Given the description of an element on the screen output the (x, y) to click on. 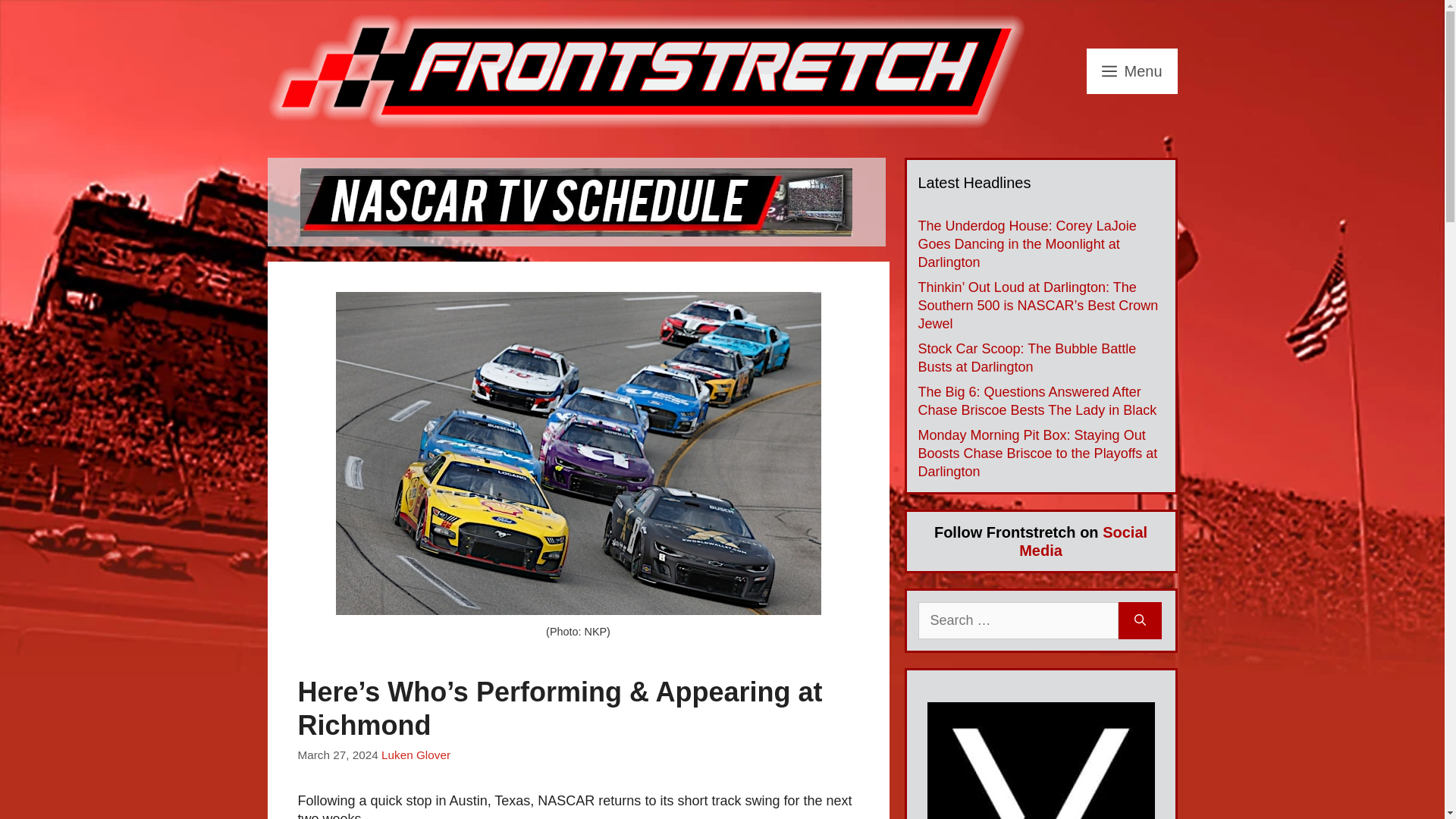
Stock Car Scoop: The Bubble Battle Busts at Darlington (1026, 357)
Search for: (1017, 620)
Social Media (1083, 541)
Menu (1131, 71)
Luken Glover (415, 754)
